Given the description of an element on the screen output the (x, y) to click on. 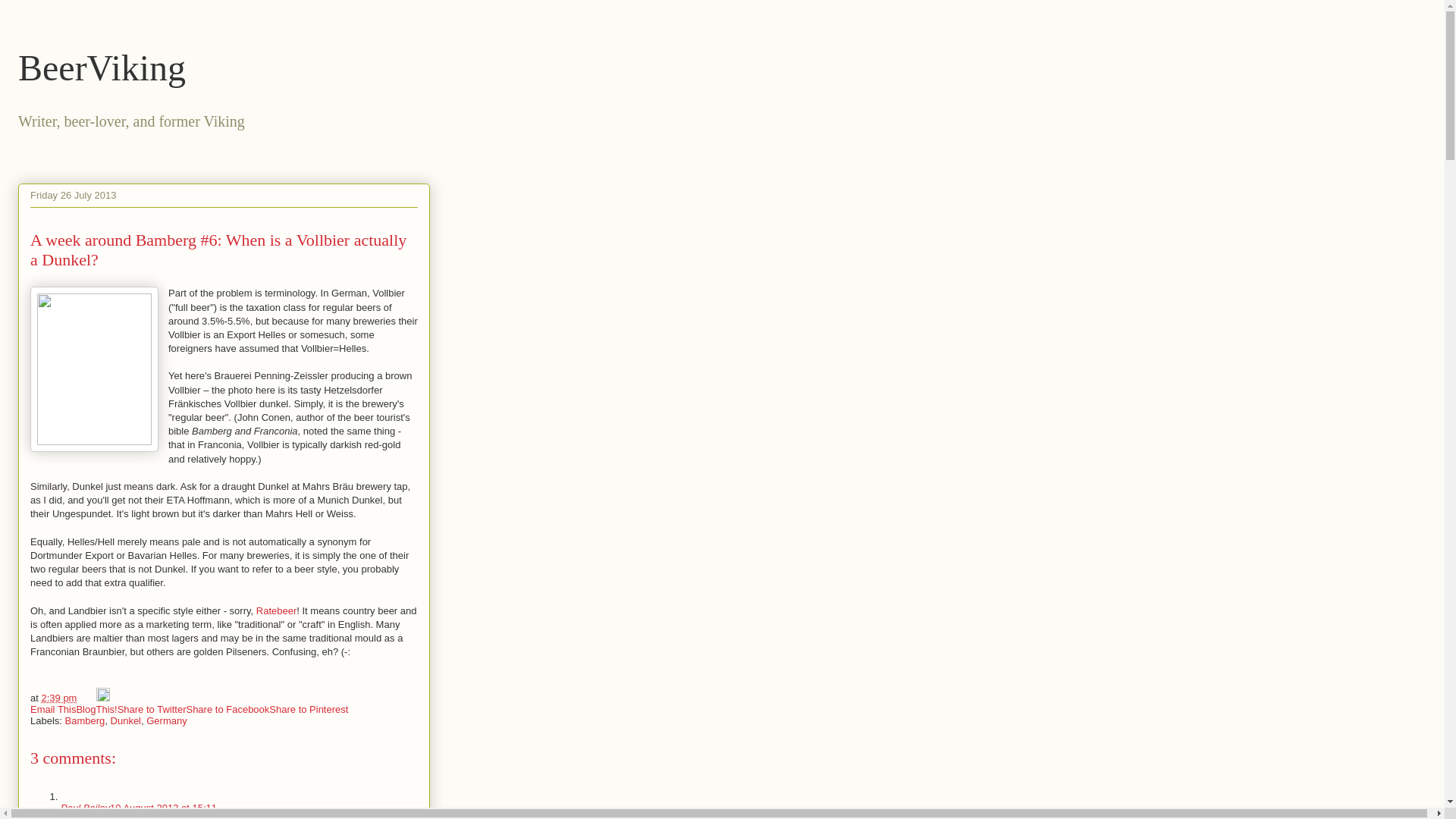
2:39 pm (58, 697)
Share to Pinterest (308, 708)
Email This (52, 708)
Email Post (88, 697)
BlogThis! (95, 708)
Bamberg (84, 720)
Email This (52, 708)
BeerViking (101, 67)
Share to Facebook (227, 708)
Germany (166, 720)
Share to Twitter (151, 708)
10 August 2013 at 15:11 (163, 808)
Share to Facebook (227, 708)
Ratebeer (276, 610)
Dunkel (125, 720)
